Given the description of an element on the screen output the (x, y) to click on. 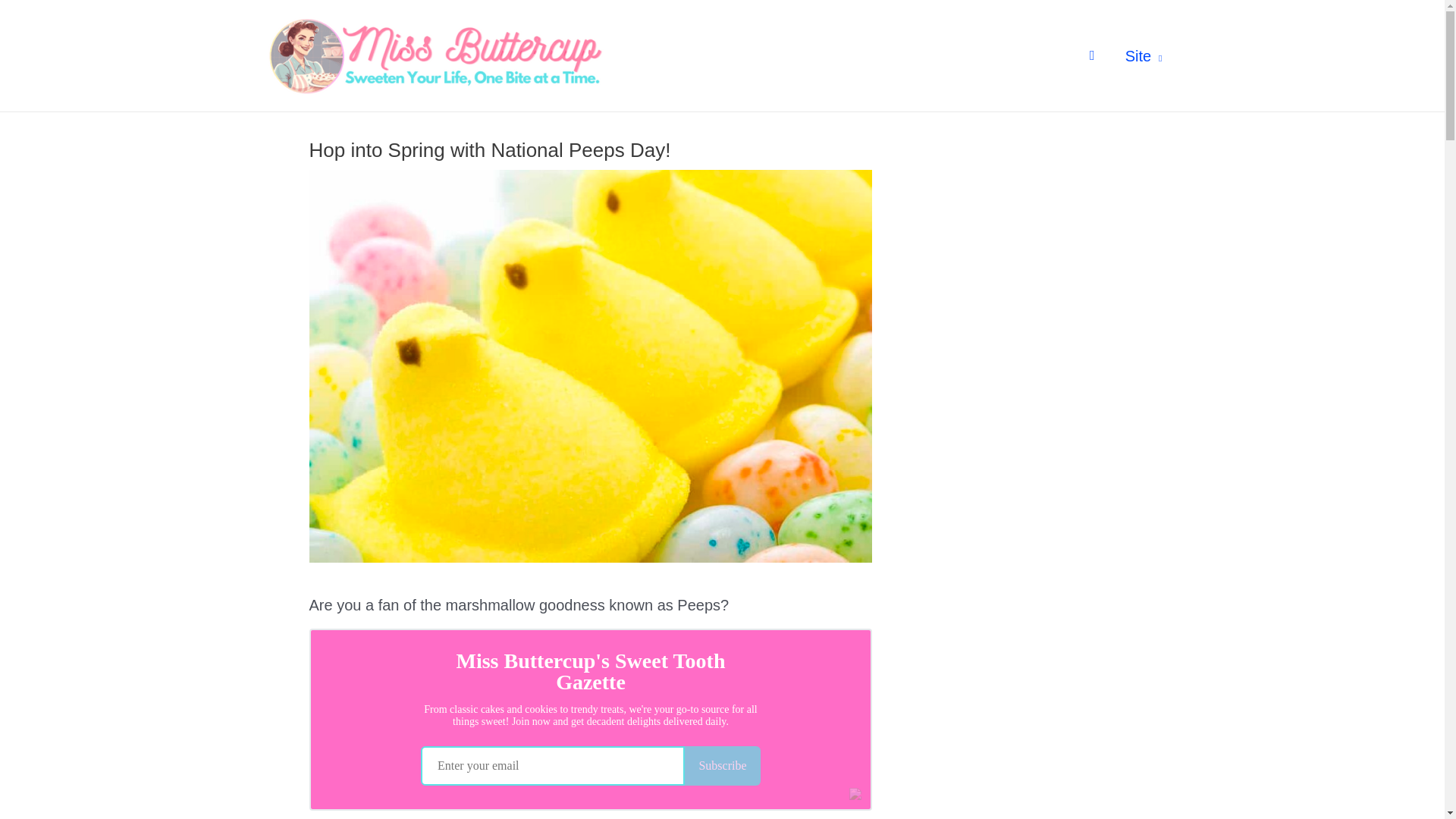
Site (1143, 55)
